Given the description of an element on the screen output the (x, y) to click on. 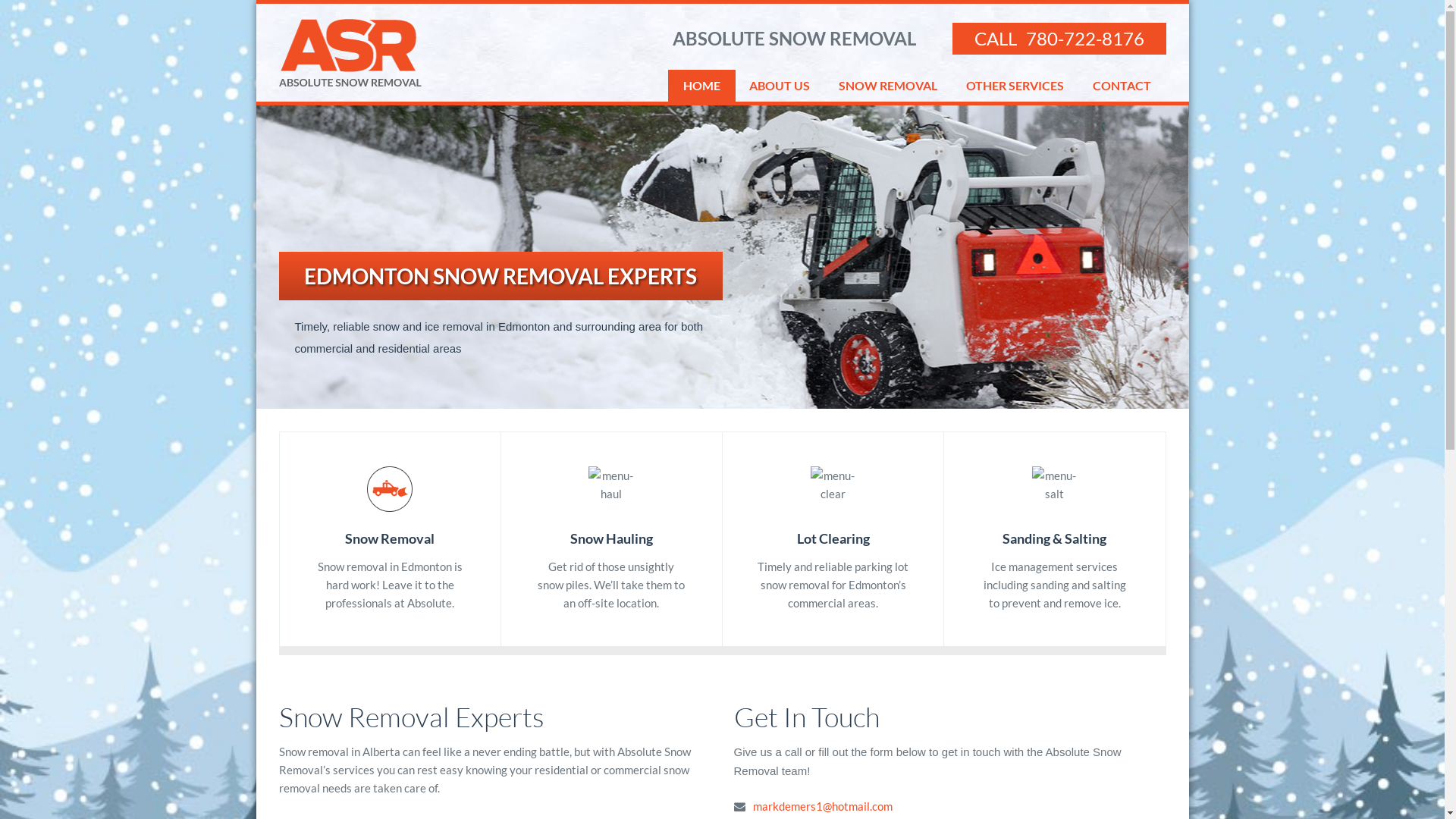
markdemers1@hotmail.com Element type: text (822, 805)
OTHER SERVICES Element type: text (1014, 85)
ABOUT US Element type: text (779, 85)
CONTACT Element type: text (1120, 85)
HOME Element type: text (700, 85)
SNOW REMOVAL Element type: text (887, 85)
